Given the description of an element on the screen output the (x, y) to click on. 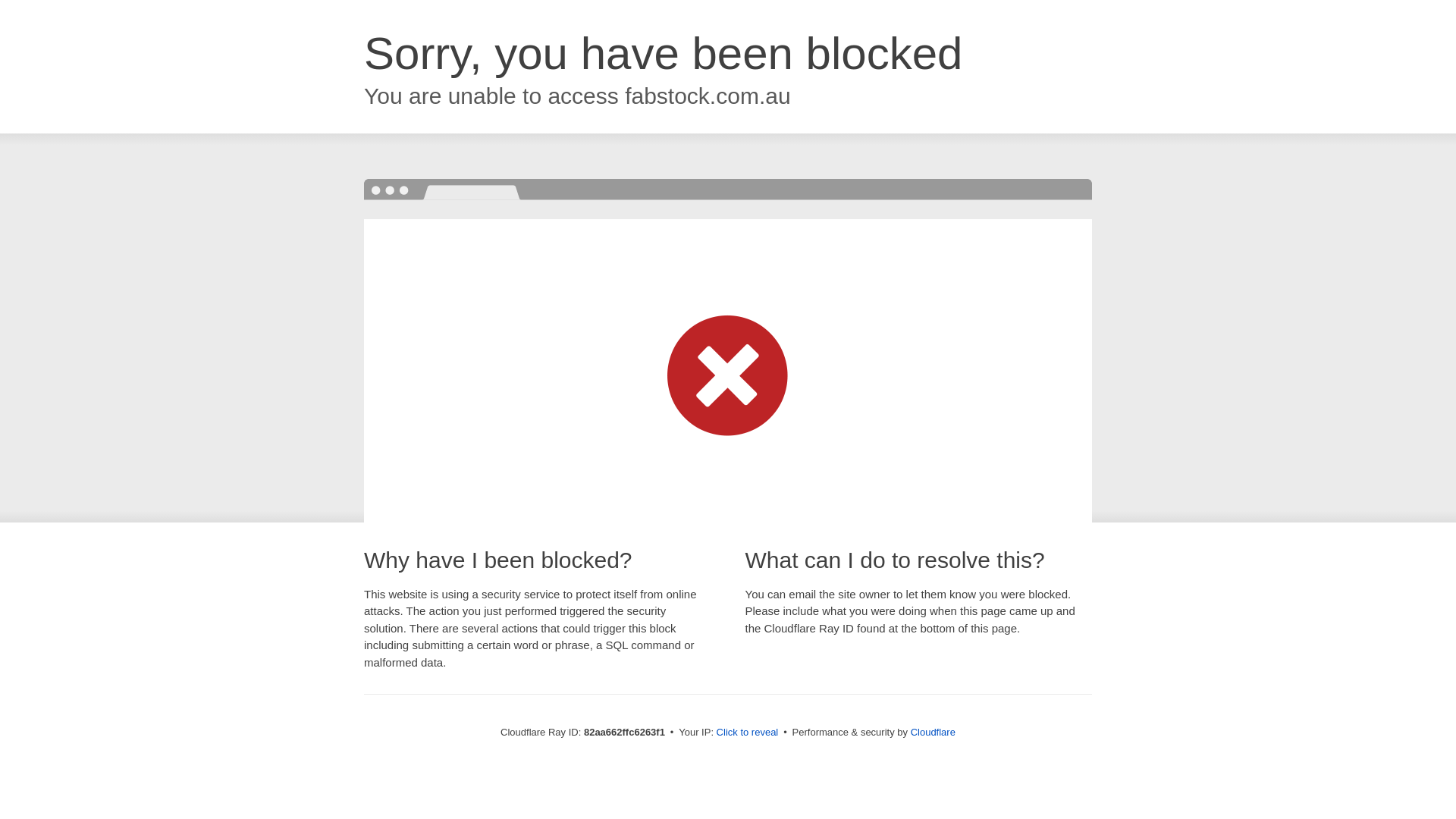
Cloudflare Element type: text (932, 731)
Click to reveal Element type: text (747, 732)
